Given the description of an element on the screen output the (x, y) to click on. 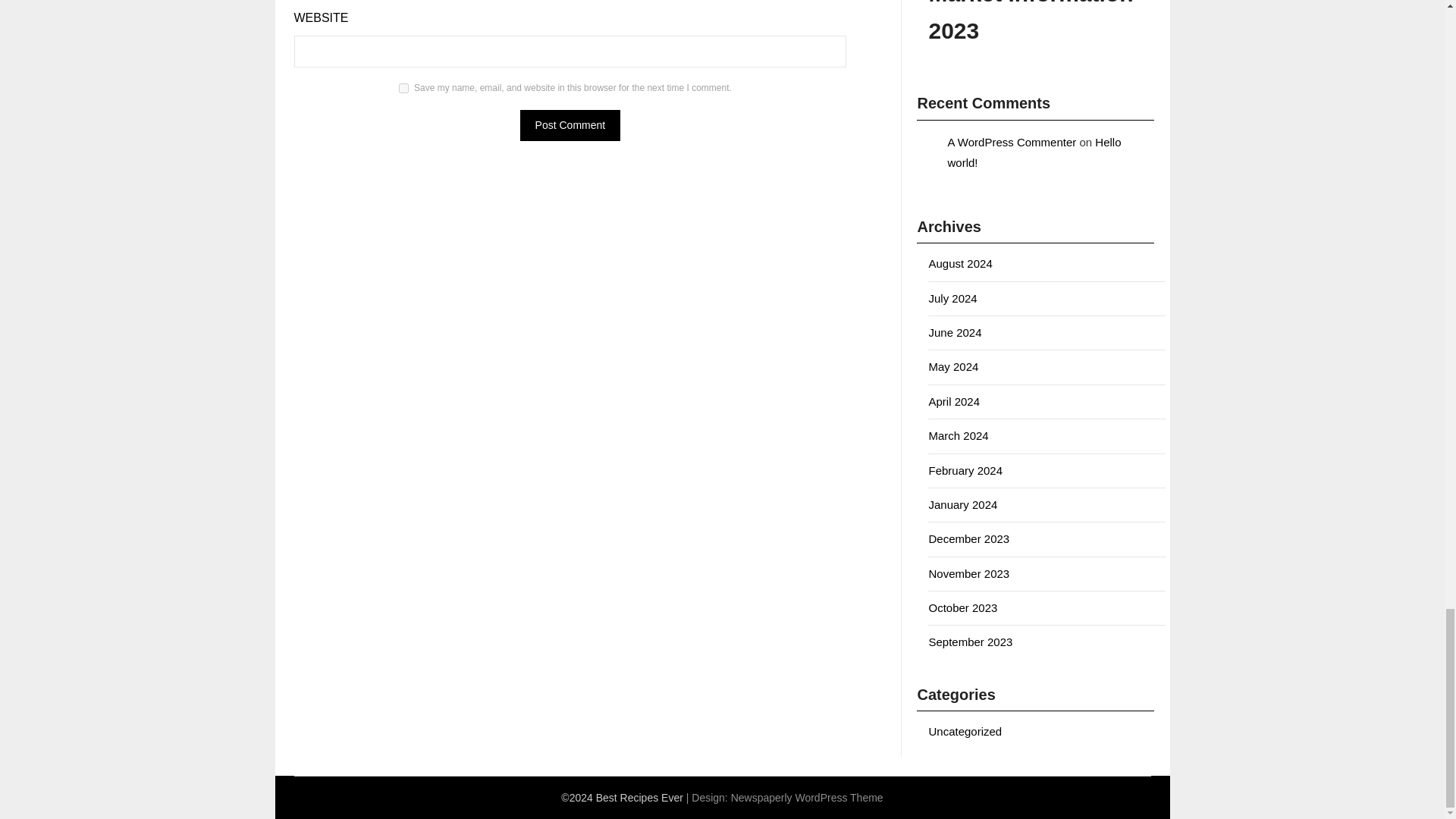
yes (403, 88)
Post Comment (570, 124)
Post Comment (570, 124)
